Given the description of an element on the screen output the (x, y) to click on. 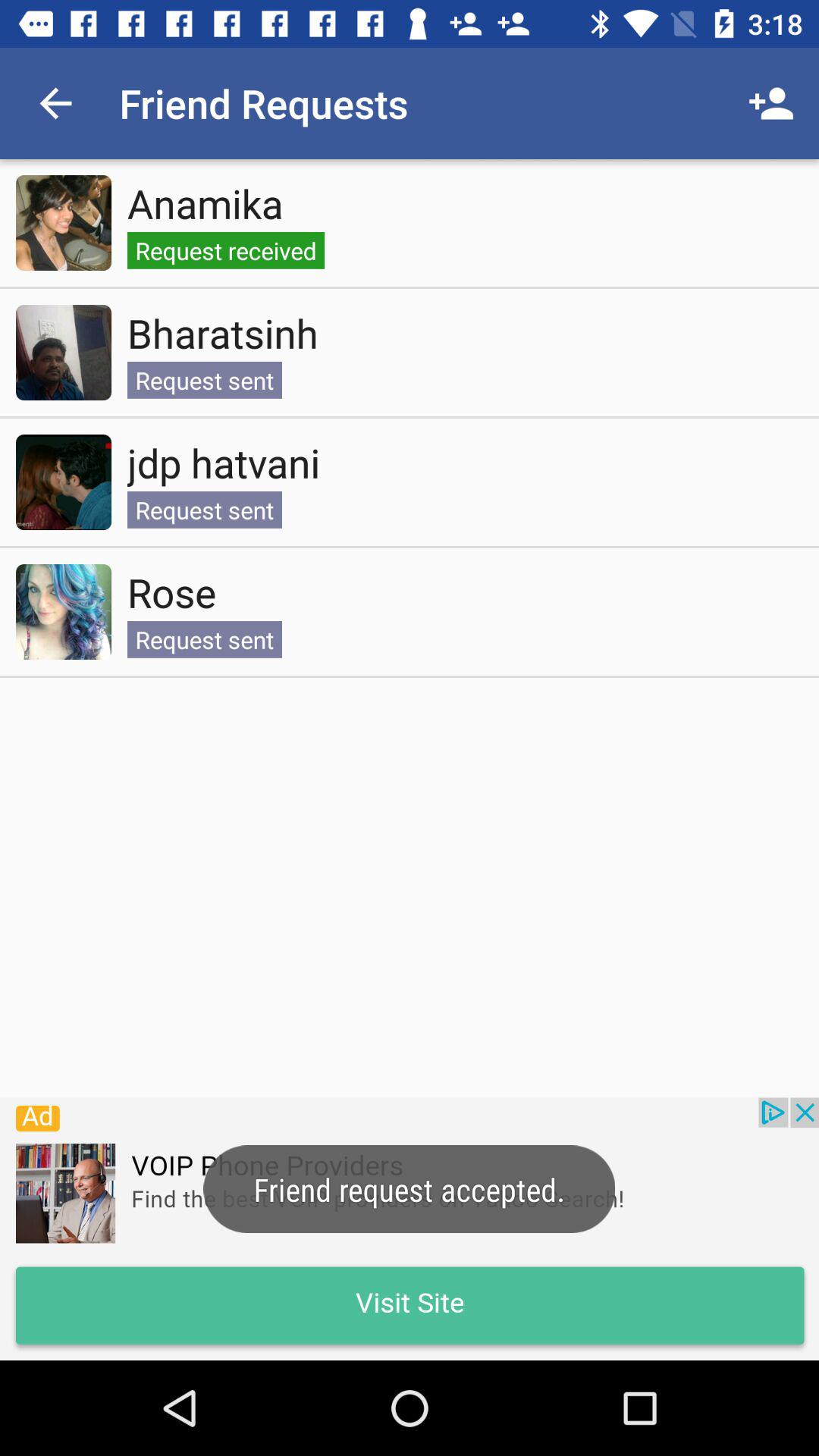
click anamika 's profile (63, 222)
